Given the description of an element on the screen output the (x, y) to click on. 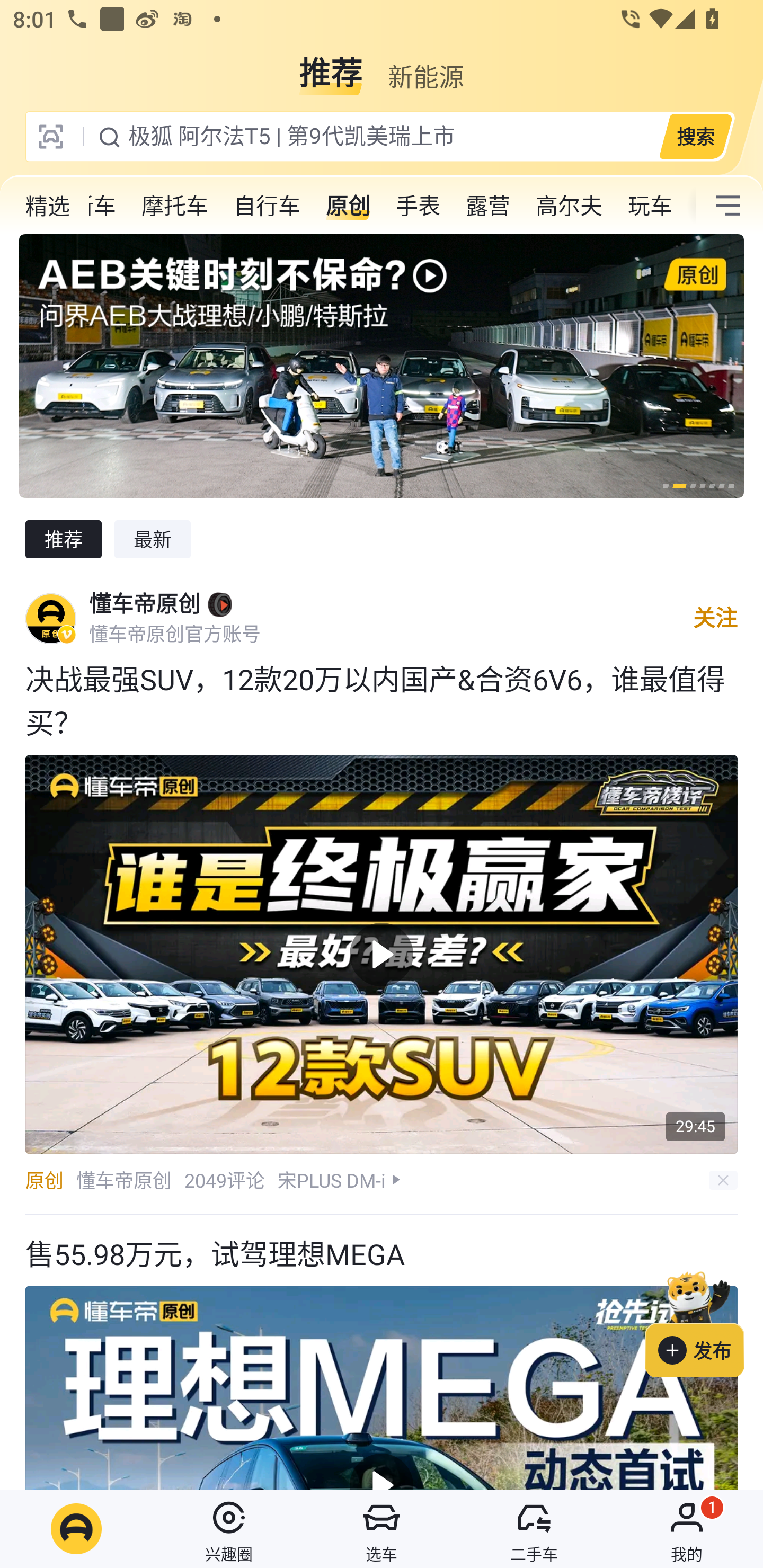
推荐 (330, 65)
新能源 (425, 65)
搜索 (695, 136)
摩托车 (174, 205)
自行车 (266, 205)
原创 (347, 205)
手表 (418, 205)
露营 (487, 205)
高尔夫 (568, 205)
玩车 (649, 205)
 (727, 205)
精选 (47, 206)
推荐 (63, 539)
最新 (152, 539)
懂车帝原创 (144, 604)
关注 (714, 618)
原创 (44, 1179)
宋PLUS DM-i (331, 1179)
售55.98万元，试驾理想MEGA  (381, 1352)
发布 (704, 1320)
 兴趣圈 (228, 1528)
 选车 (381, 1528)
 二手车 (533, 1528)
 我的 (686, 1528)
